Given the description of an element on the screen output the (x, y) to click on. 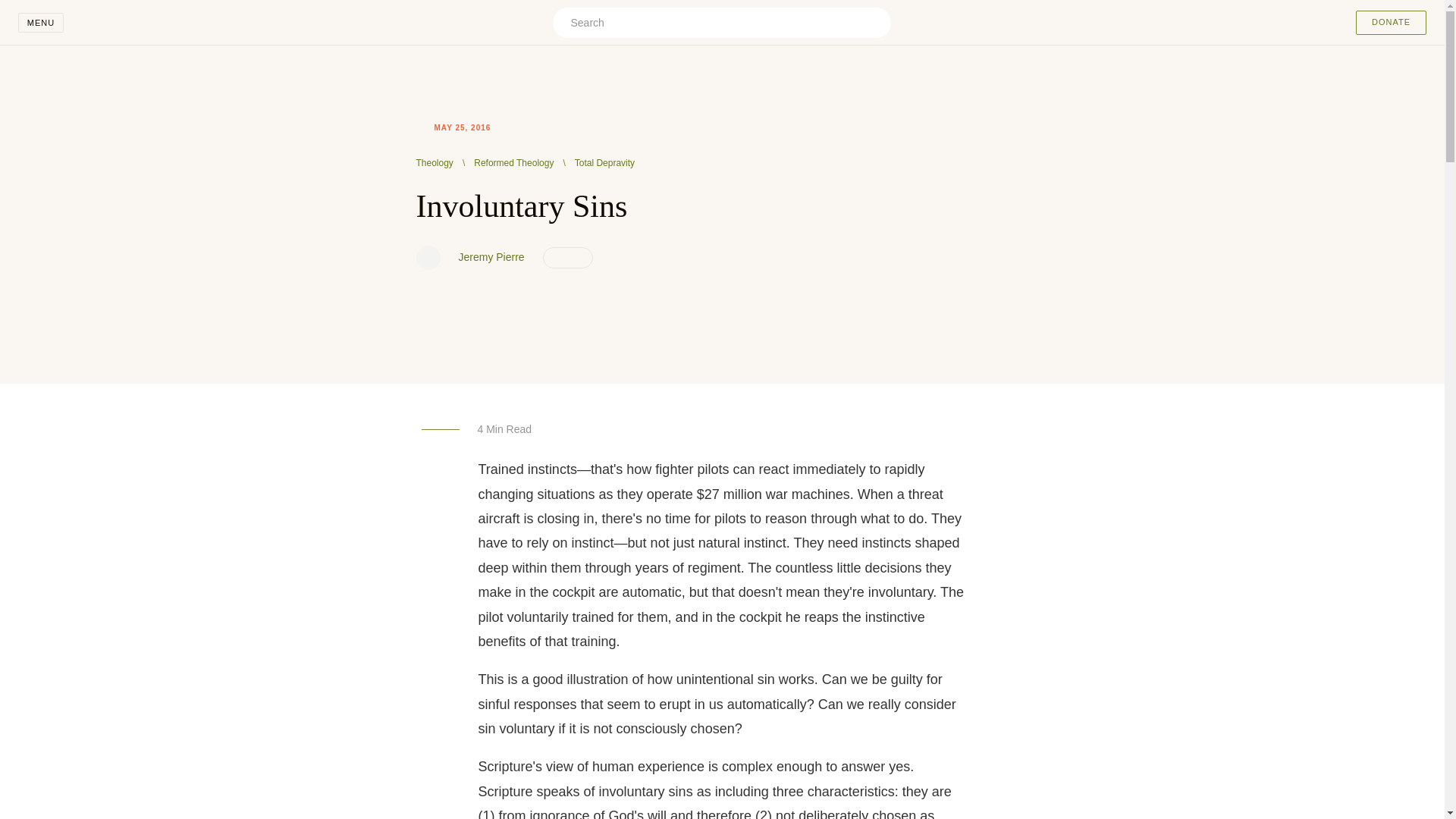
DONATE (1390, 22)
MENU (40, 22)
